Given the description of an element on the screen output the (x, y) to click on. 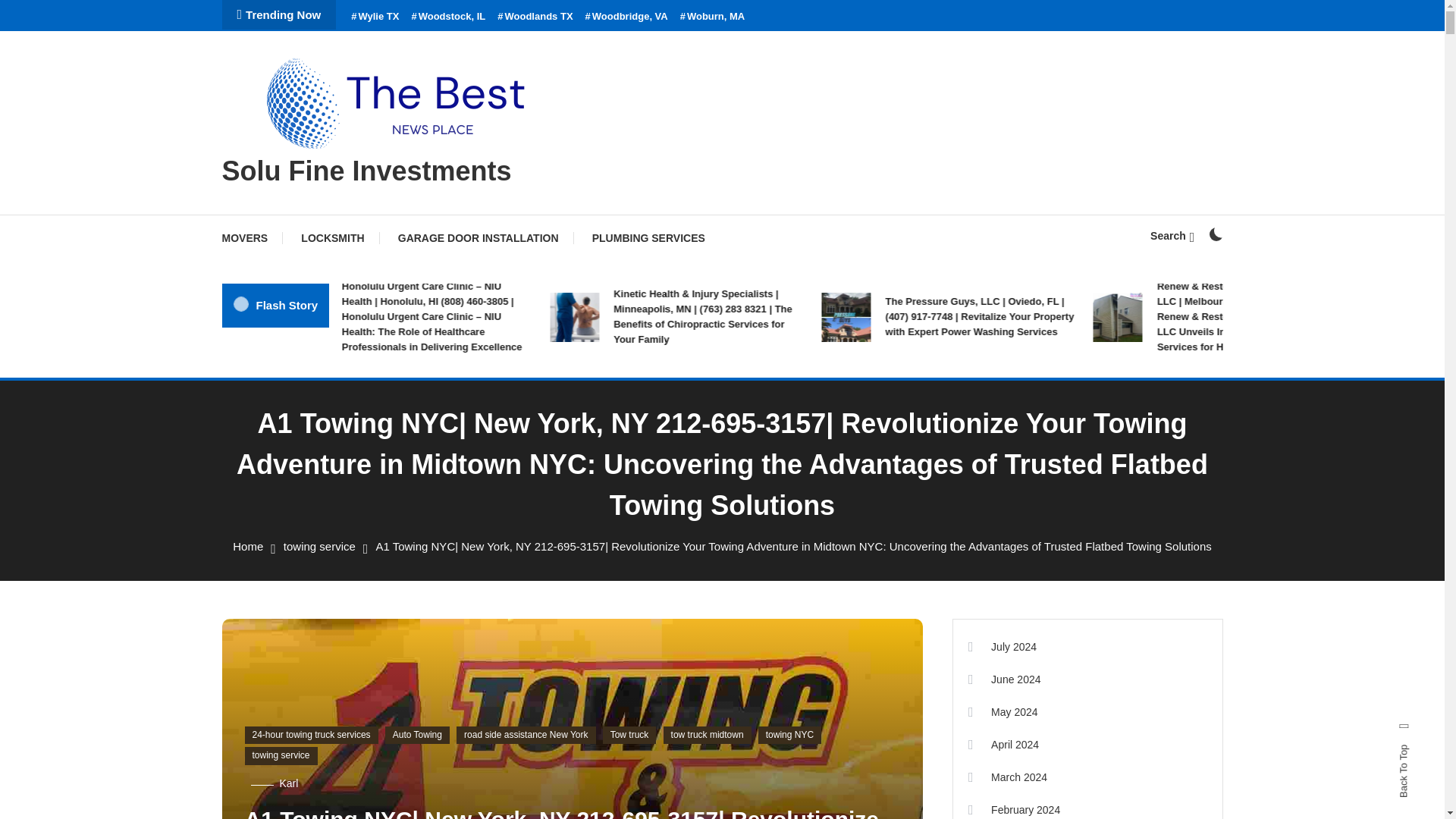
LOCKSMITH (331, 238)
MOVERS (251, 238)
24-hour towing truck services (310, 735)
Woodlands TX (534, 16)
on (1215, 233)
Woodstock, IL (447, 16)
Auto Towing (417, 735)
Woodbridge, VA (626, 16)
Woburn, MA (712, 16)
Wylie TX (374, 16)
Search (1171, 235)
PLUMBING SERVICES (648, 238)
Tow truck (629, 735)
Home (247, 545)
towing service (319, 545)
